Given the description of an element on the screen output the (x, y) to click on. 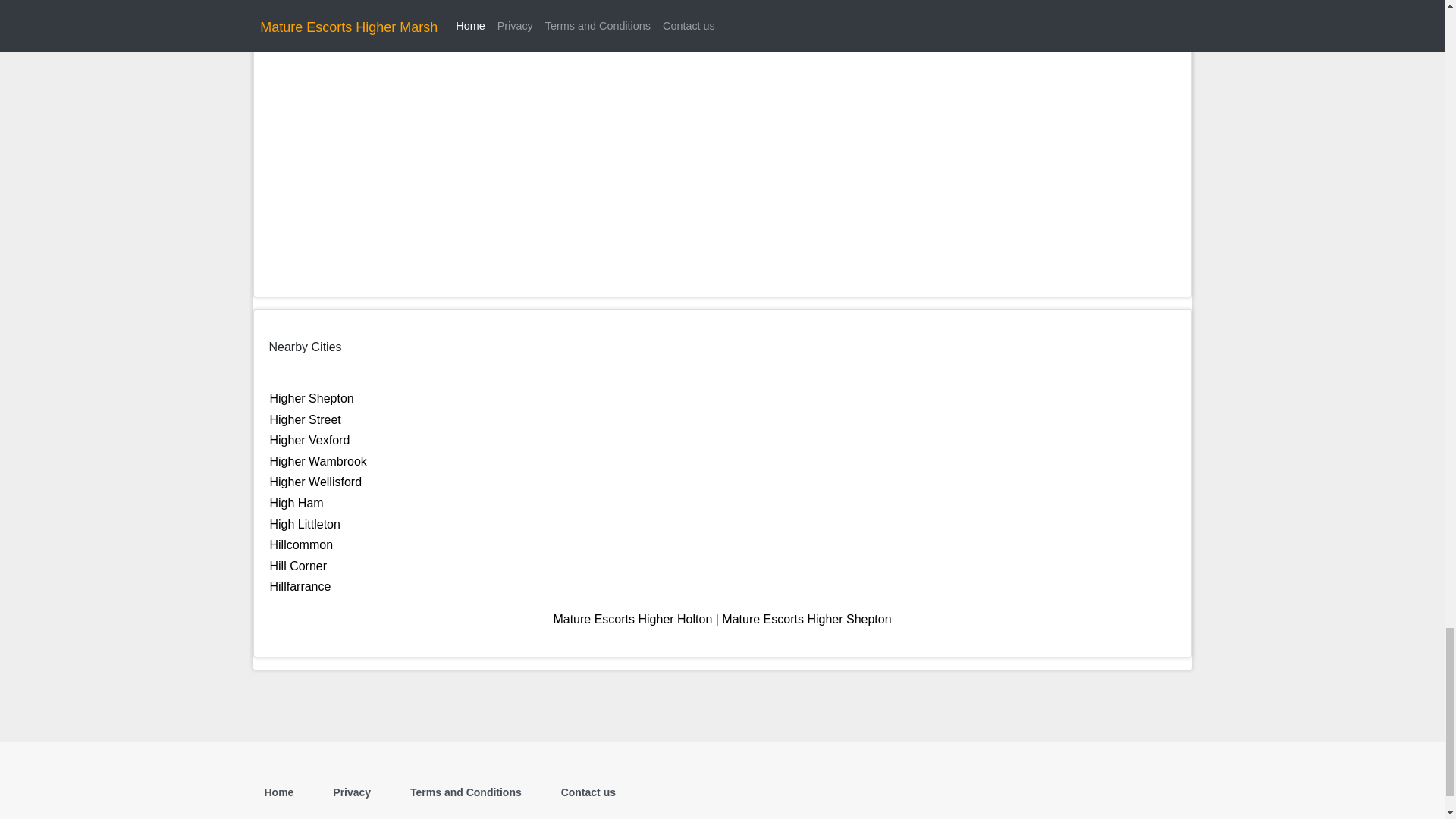
Higher Street (304, 419)
Higher Vexford (309, 440)
Higher Wellisford (315, 481)
High Ham (296, 502)
Mature Escorts Higher Holton (632, 618)
High Littleton (304, 523)
Hillfarrance (300, 585)
Mature Escorts Higher Shepton (806, 618)
Higher Shepton (311, 398)
Higher Wambrook (317, 461)
Hill Corner (298, 565)
Hillcommon (301, 544)
